Given the description of an element on the screen output the (x, y) to click on. 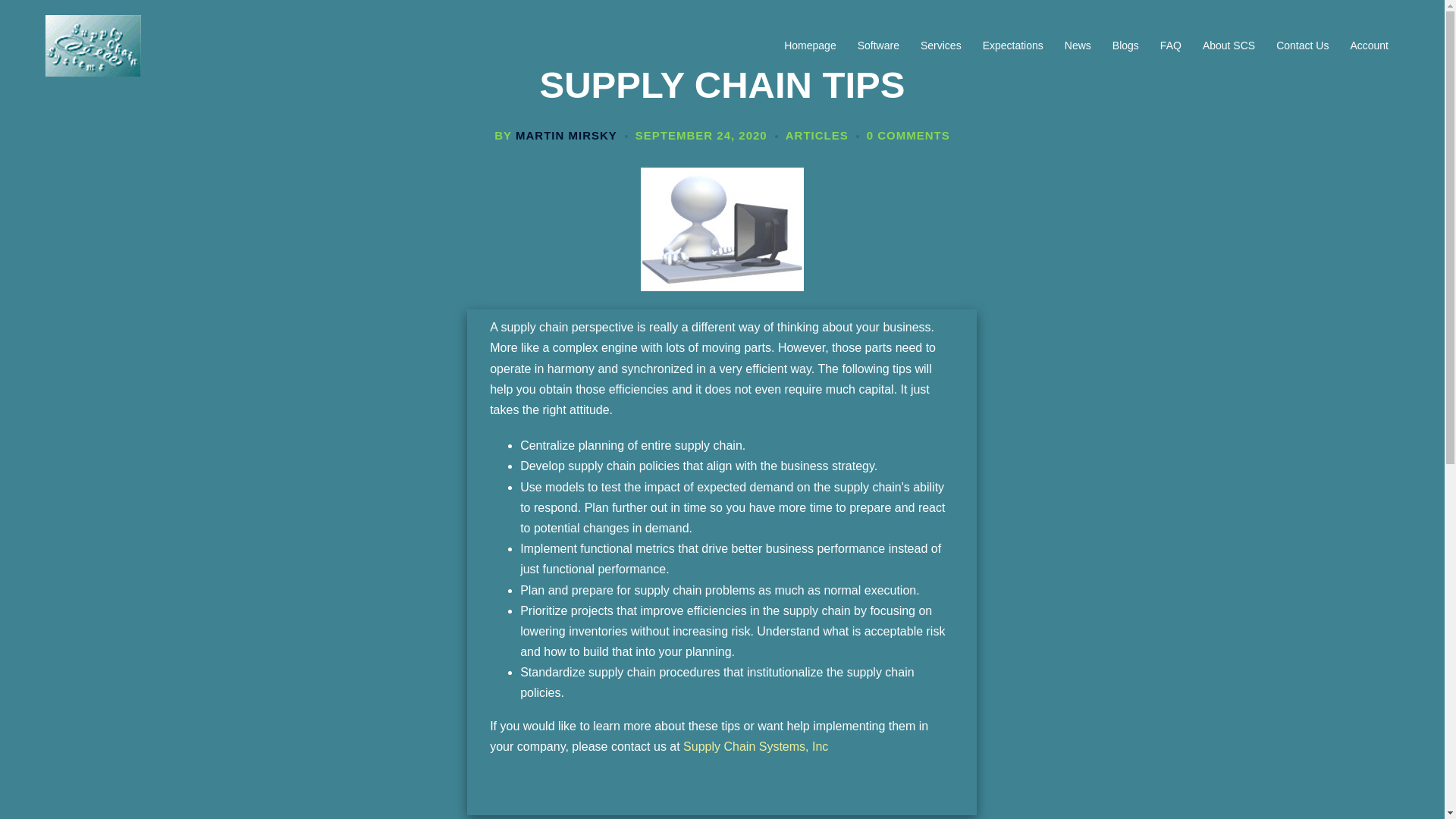
Software (878, 45)
Expectations (1012, 45)
Blogs (1125, 45)
Homepage (809, 45)
SEPTEMBER 24, 2020 (700, 134)
Contact Us (1301, 45)
Supply Chain Systems, Inc (755, 746)
ARTICLES (817, 134)
Supply Chain Systems Inc. (93, 44)
News (1077, 45)
0 COMMENTS (908, 134)
Services (940, 45)
FAQ (1170, 45)
About SCS (1228, 45)
Account (1369, 45)
